Given the description of an element on the screen output the (x, y) to click on. 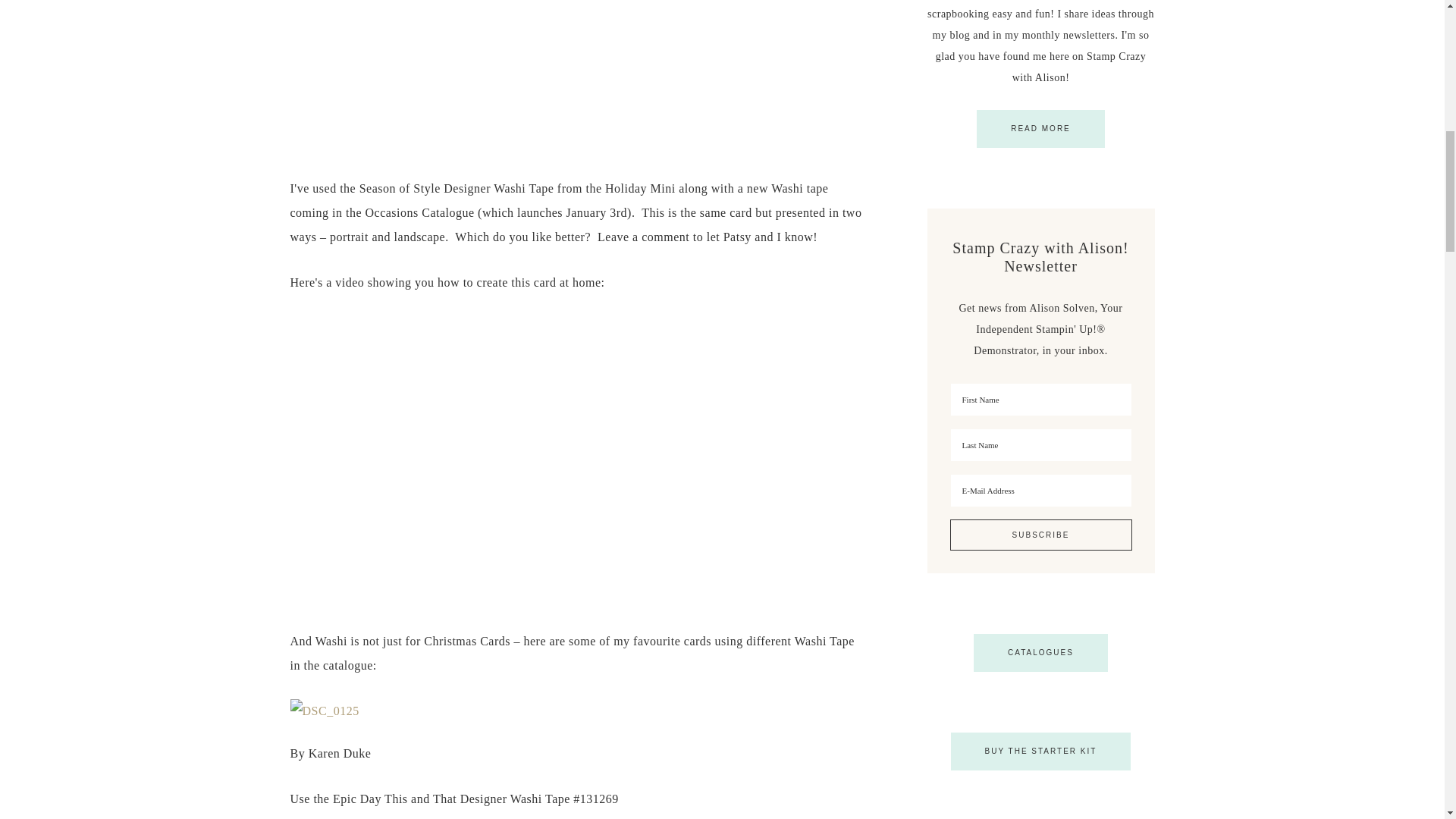
Subscribe (1040, 534)
